Given the description of an element on the screen output the (x, y) to click on. 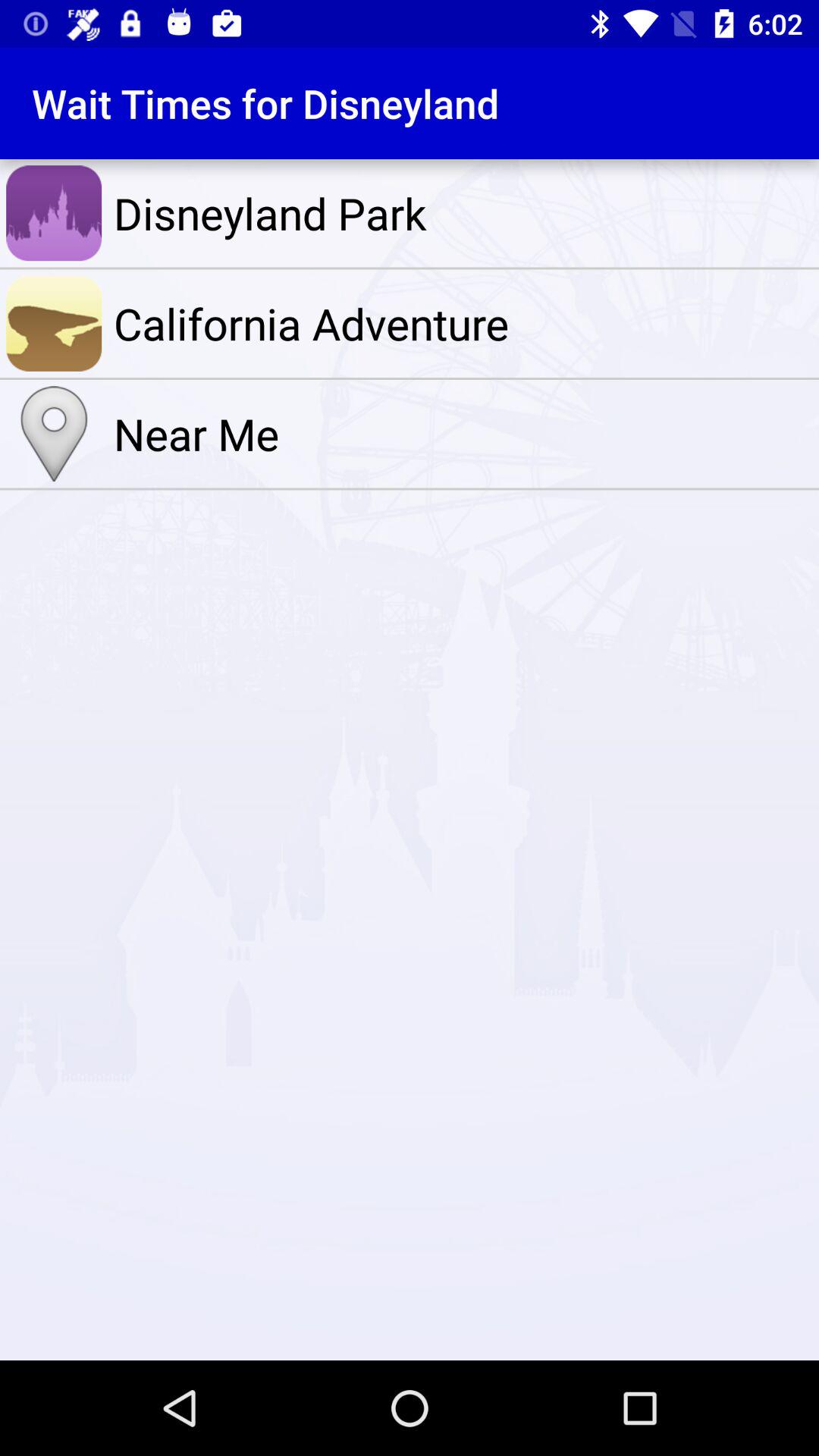
turn off disneyland park (462, 213)
